Given the description of an element on the screen output the (x, y) to click on. 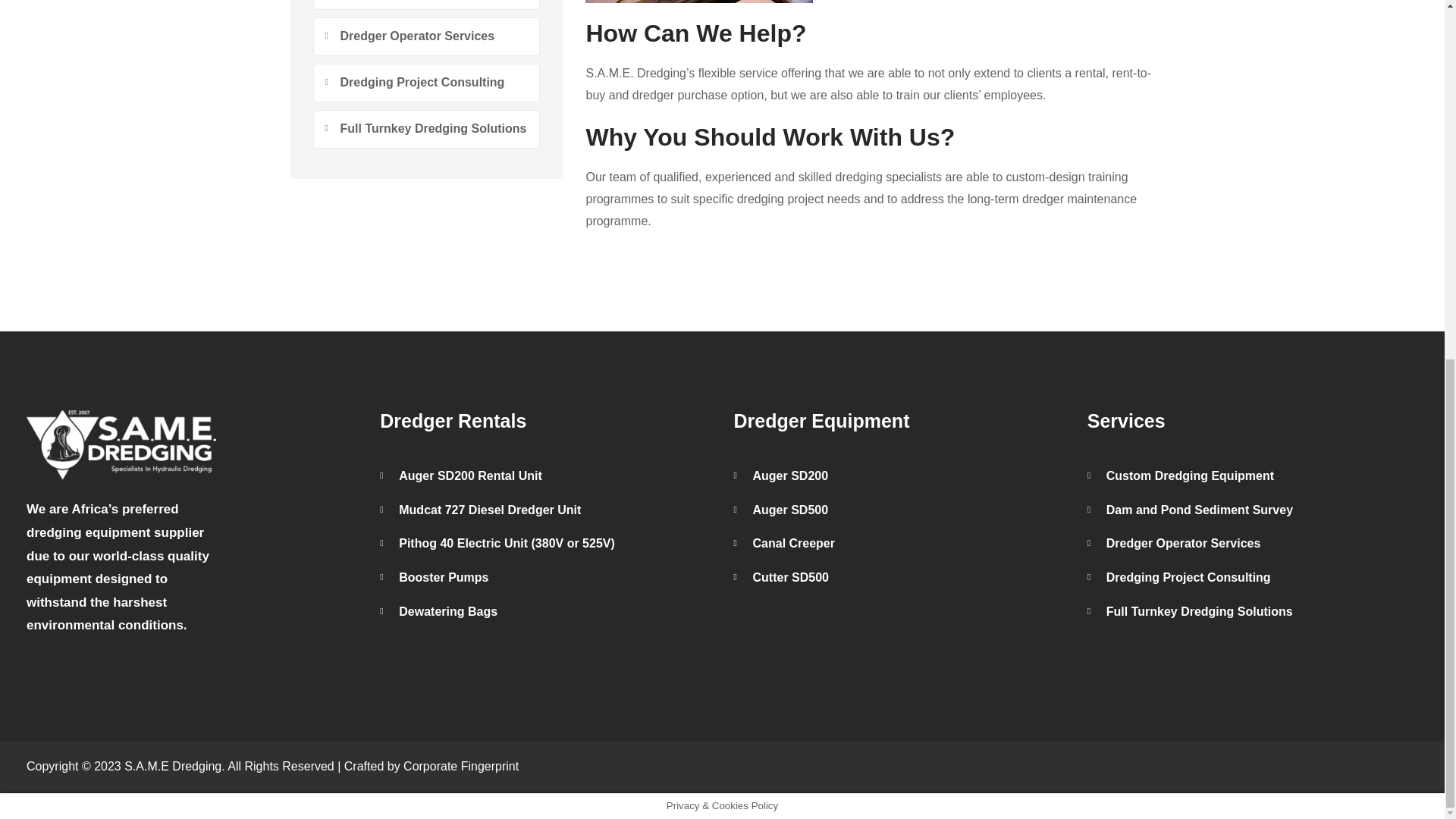
Canal Creeper (898, 544)
Dewatering Bags (545, 612)
Dam and Pond Sediment Survey (426, 5)
Dredger Operator Services (426, 36)
Mudcat 727 Diesel Dredger Unit (545, 510)
Auger SD500 (898, 510)
Auger SD200 (898, 476)
Dredging Project Consulting (426, 82)
Auger SD200 Rental Unit (545, 476)
Full Turnkey Dredging Solutions (426, 128)
